Given the description of an element on the screen output the (x, y) to click on. 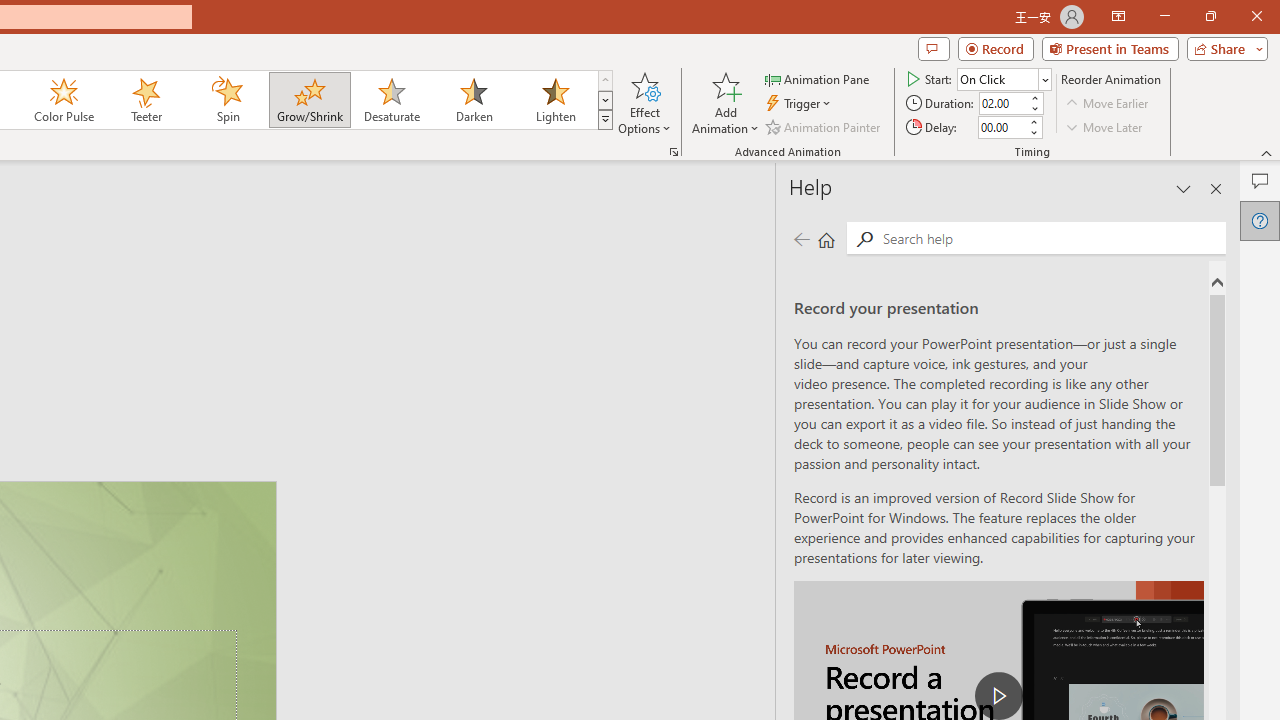
play Record a Presentation (998, 695)
Animation Duration (1003, 103)
Animation Styles (605, 120)
Animation Pane (818, 78)
Color Pulse (63, 100)
